Given the description of an element on the screen output the (x, y) to click on. 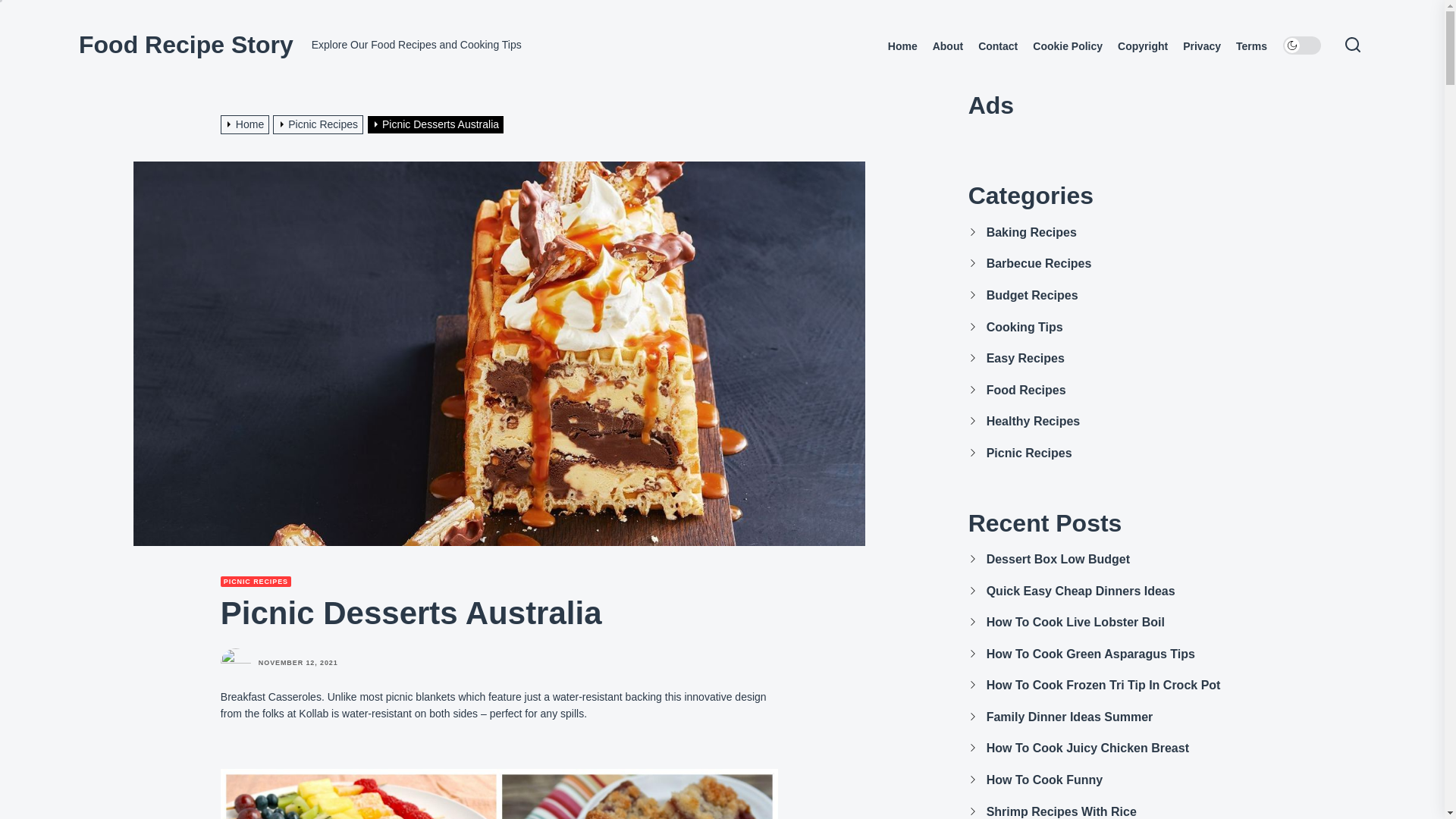
Picnic Recipes (319, 123)
Privacy (1201, 46)
Copyright (1142, 46)
About (947, 46)
NOVEMBER 12, 2021 (298, 662)
Home (902, 46)
Food Recipe Story (186, 44)
Terms (1251, 46)
Cookie Policy (1067, 46)
Contact (997, 46)
